Given the description of an element on the screen output the (x, y) to click on. 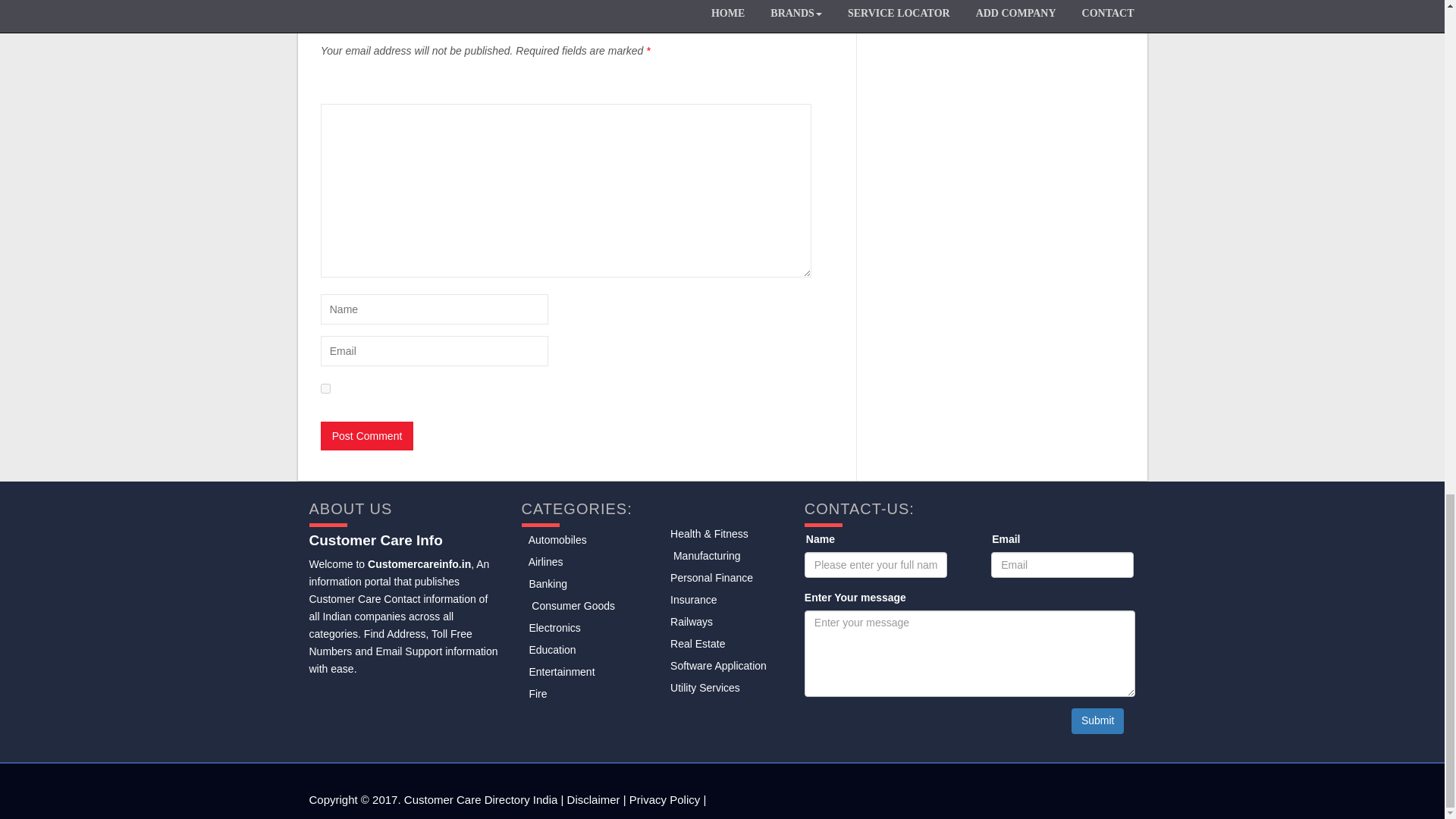
Post Comment (366, 435)
yes (325, 388)
Post Comment (366, 435)
